Given the description of an element on the screen output the (x, y) to click on. 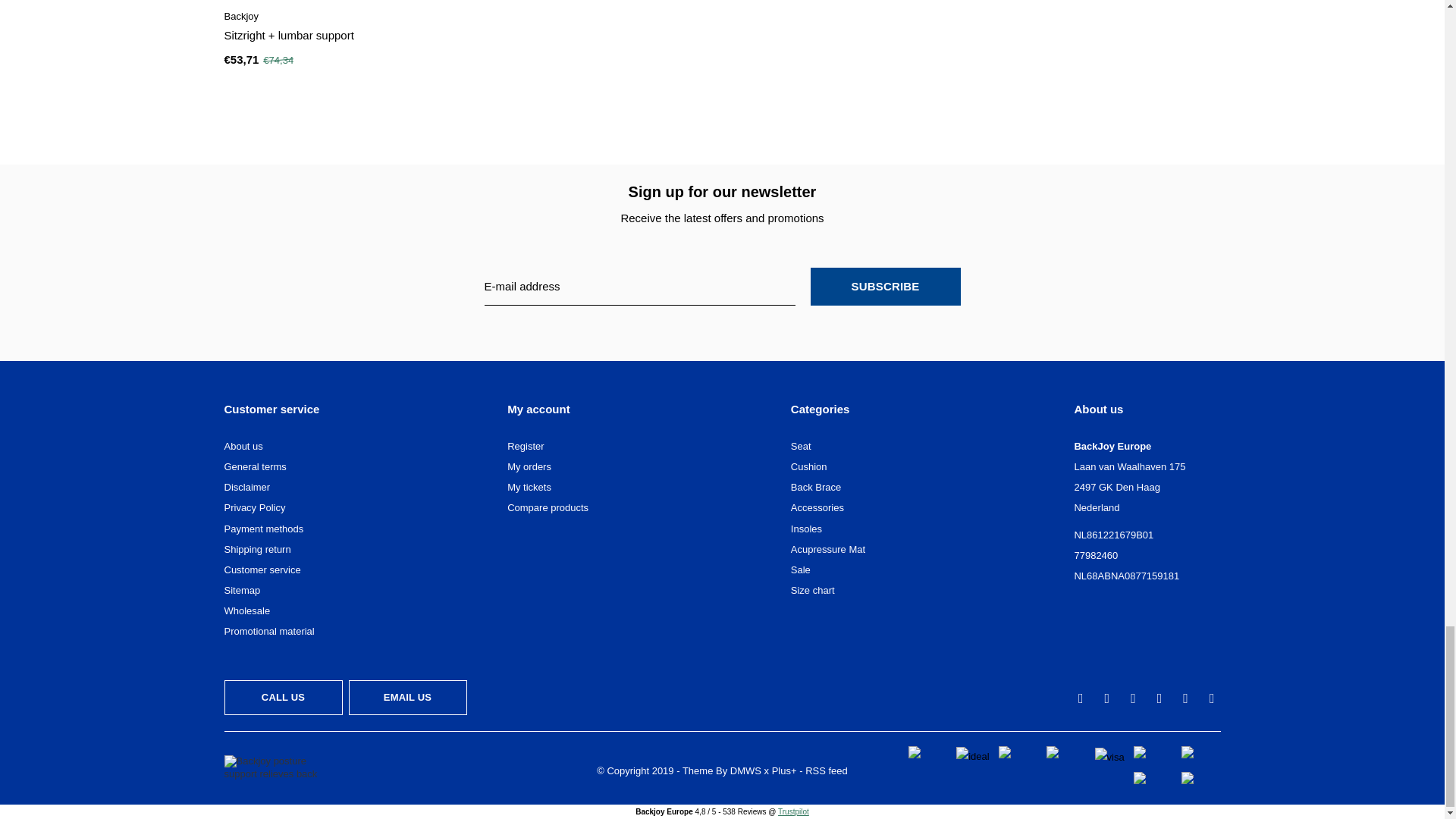
Register (524, 446)
My orders (528, 466)
My tickets (528, 487)
